Given the description of an element on the screen output the (x, y) to click on. 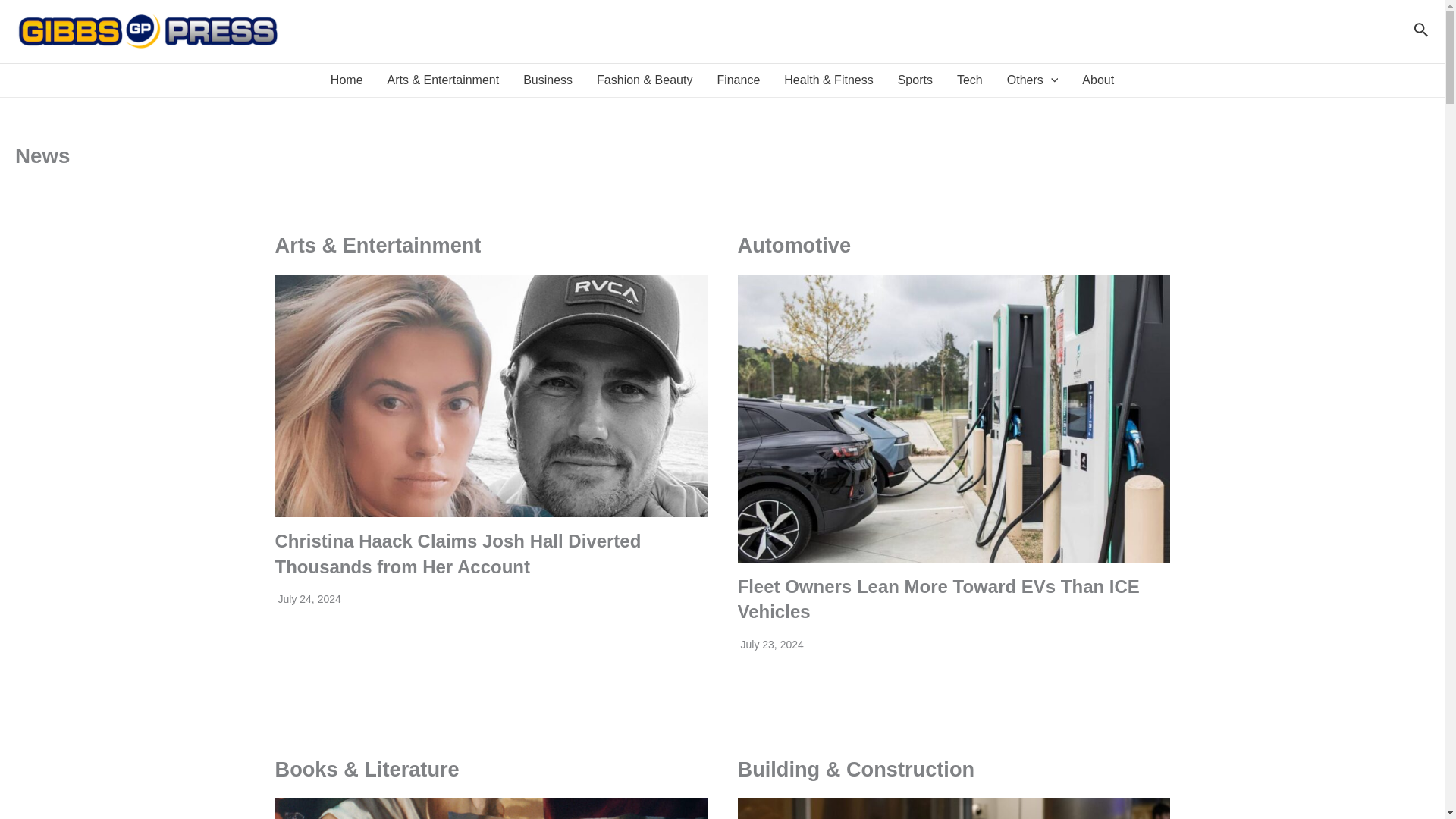
Finance (737, 80)
Business (548, 80)
Sports (914, 80)
Others (1032, 80)
Home (346, 80)
Tech (969, 80)
About (1097, 80)
